Given the description of an element on the screen output the (x, y) to click on. 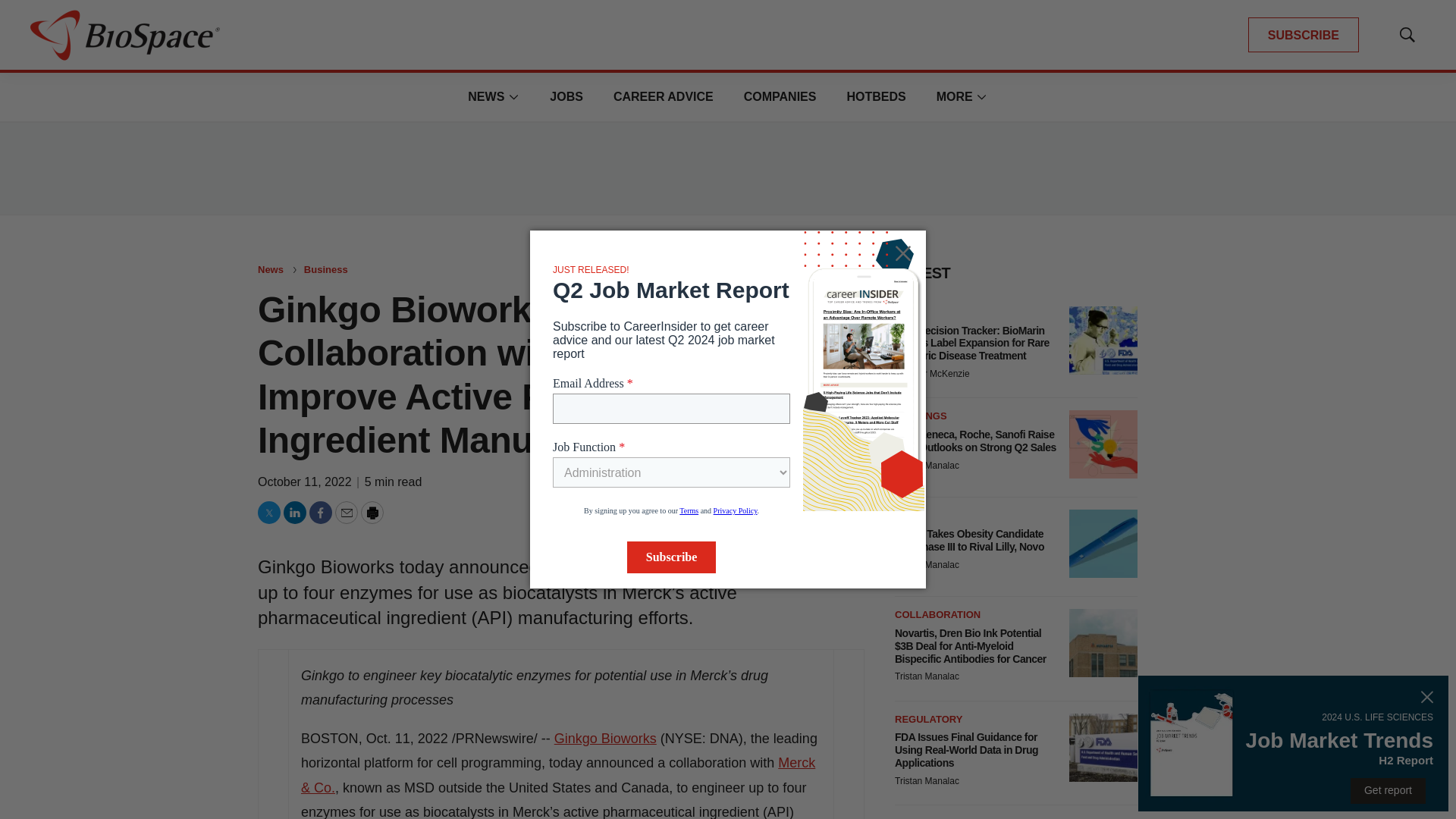
NEWS (485, 96)
Show Search (1407, 34)
Popup CTA (1293, 743)
3rd party ad content (727, 168)
SUBSCRIBE (1302, 34)
